Given the description of an element on the screen output the (x, y) to click on. 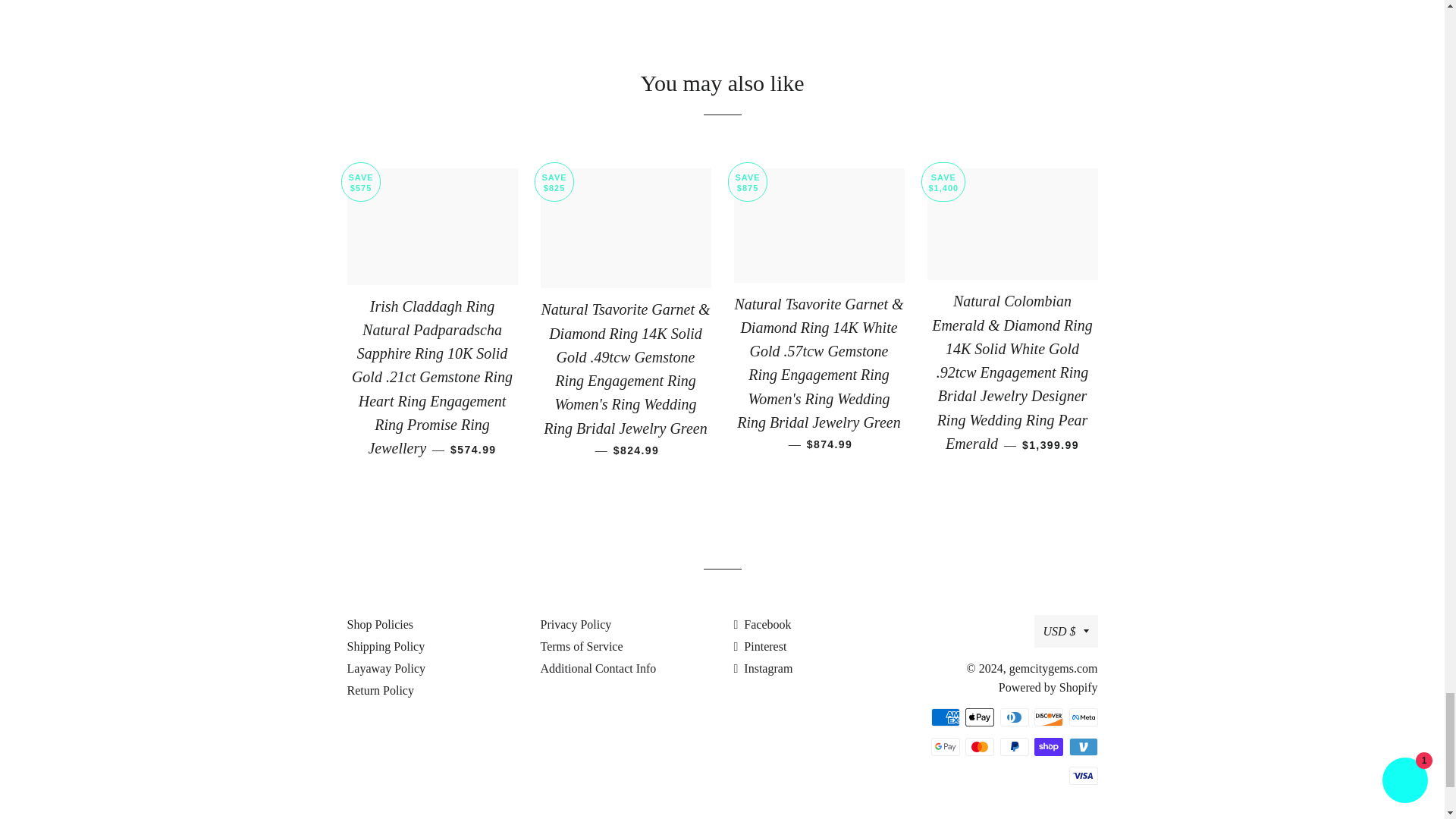
Venmo (1082, 746)
PayPal (1012, 746)
American Express (945, 717)
Discover (1047, 717)
Diners Club (1012, 717)
Shop Pay (1047, 746)
gemcitygems.com on Pinterest (760, 645)
gemcitygems.com on Facebook (762, 624)
Google Pay (945, 746)
Visa (1082, 775)
Meta Pay (1082, 717)
Mastercard (979, 746)
gemcitygems.com on Instagram (763, 667)
Apple Pay (979, 717)
